Given the description of an element on the screen output the (x, y) to click on. 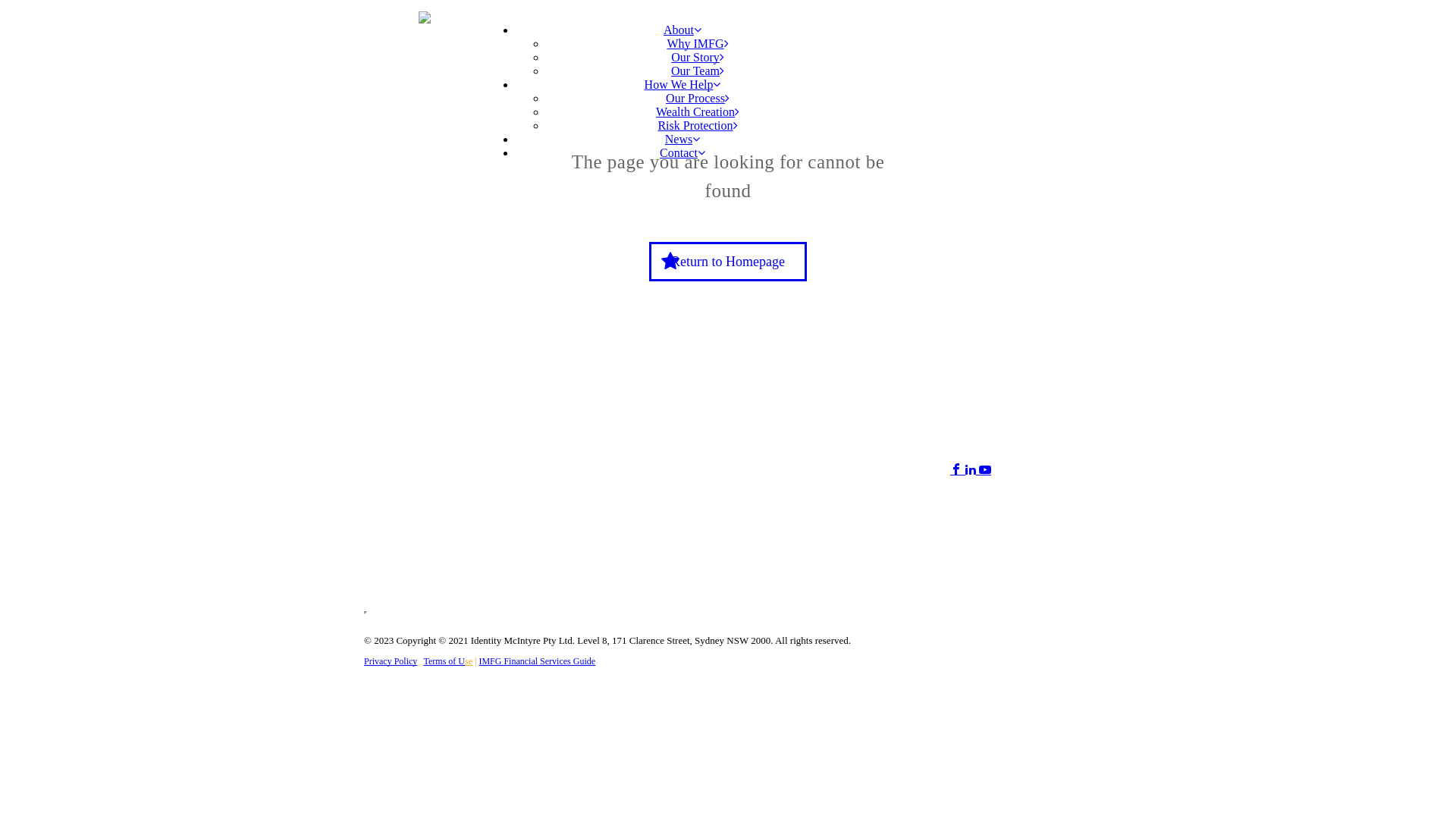
Our Team Element type: text (697, 70)
Return to Homepage Element type: text (727, 261)
News Element type: text (682, 138)
Wealth Creation Element type: text (697, 111)
Terms of U Element type: text (443, 660)
Our Process Element type: text (697, 97)
Contact Element type: text (682, 152)
IMFG Financial Services Guide Element type: text (536, 660)
Our Story Element type: text (697, 56)
About Element type: text (682, 29)
Why IMFG Element type: text (697, 43)
How We Help Element type: text (682, 84)
Risk Protection Element type: text (697, 125)
se Element type: text (468, 660)
Privacy Policy Element type: text (390, 660)
